Given the description of an element on the screen output the (x, y) to click on. 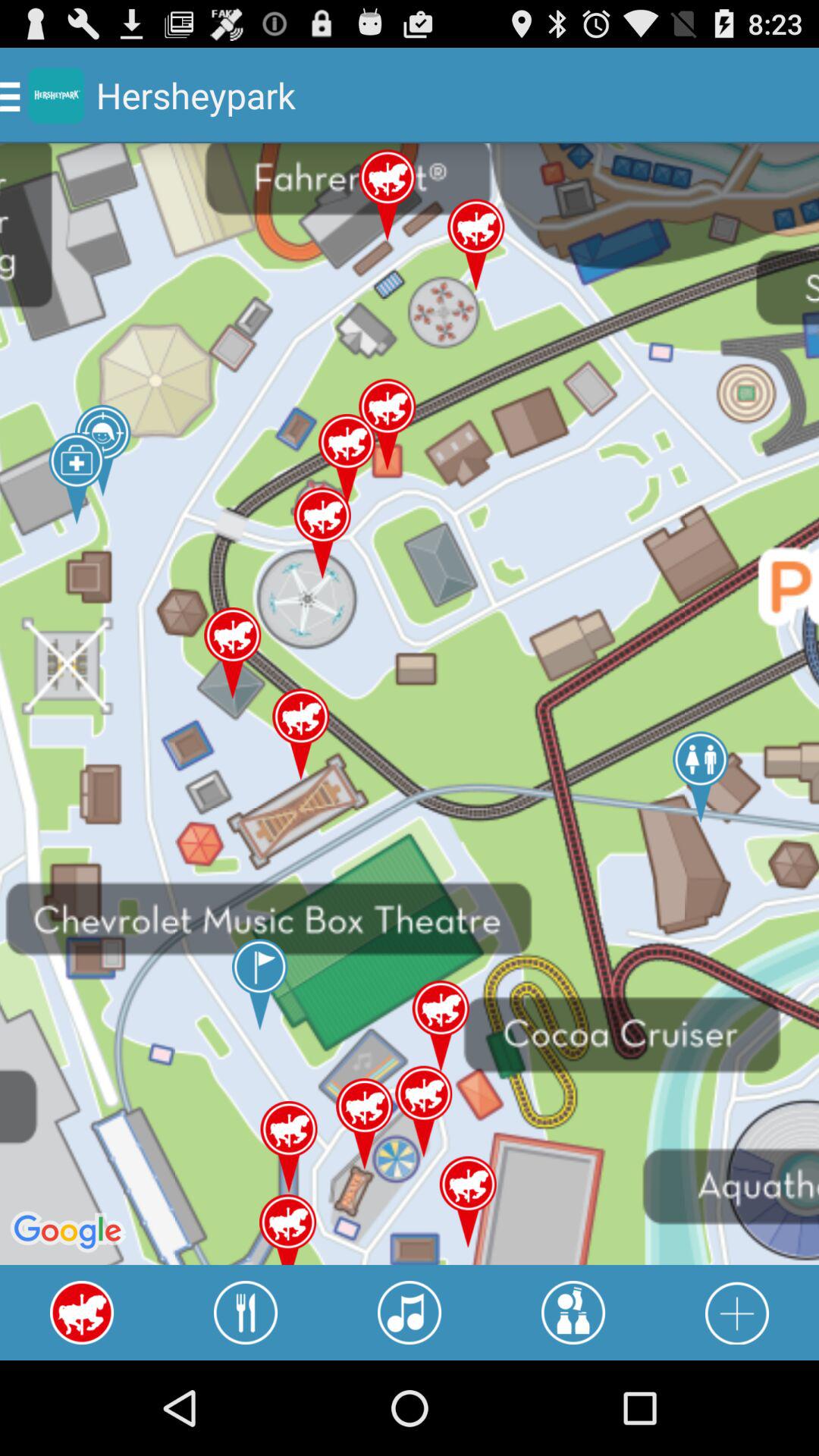
food locations (245, 1312)
